Given the description of an element on the screen output the (x, y) to click on. 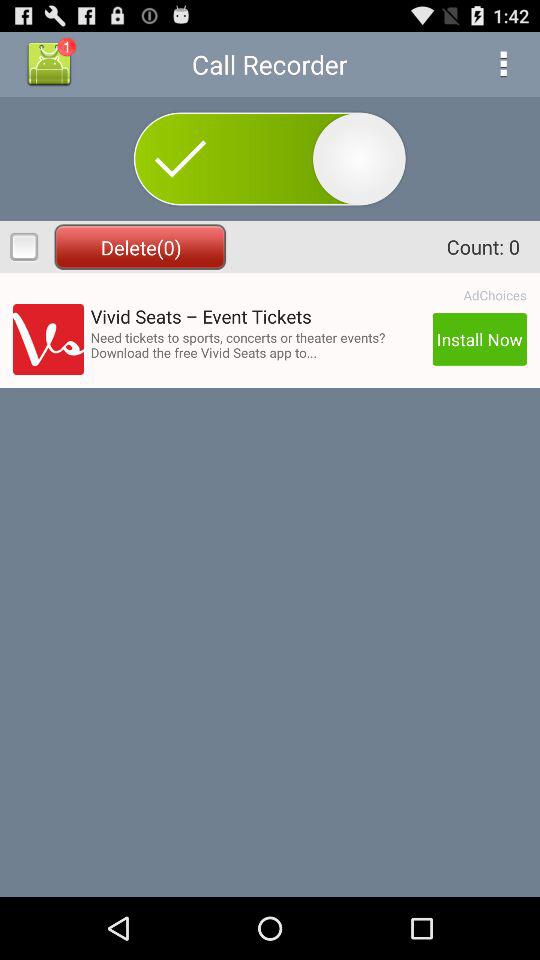
turn on icon to the left of the install now icon (257, 344)
